Given the description of an element on the screen output the (x, y) to click on. 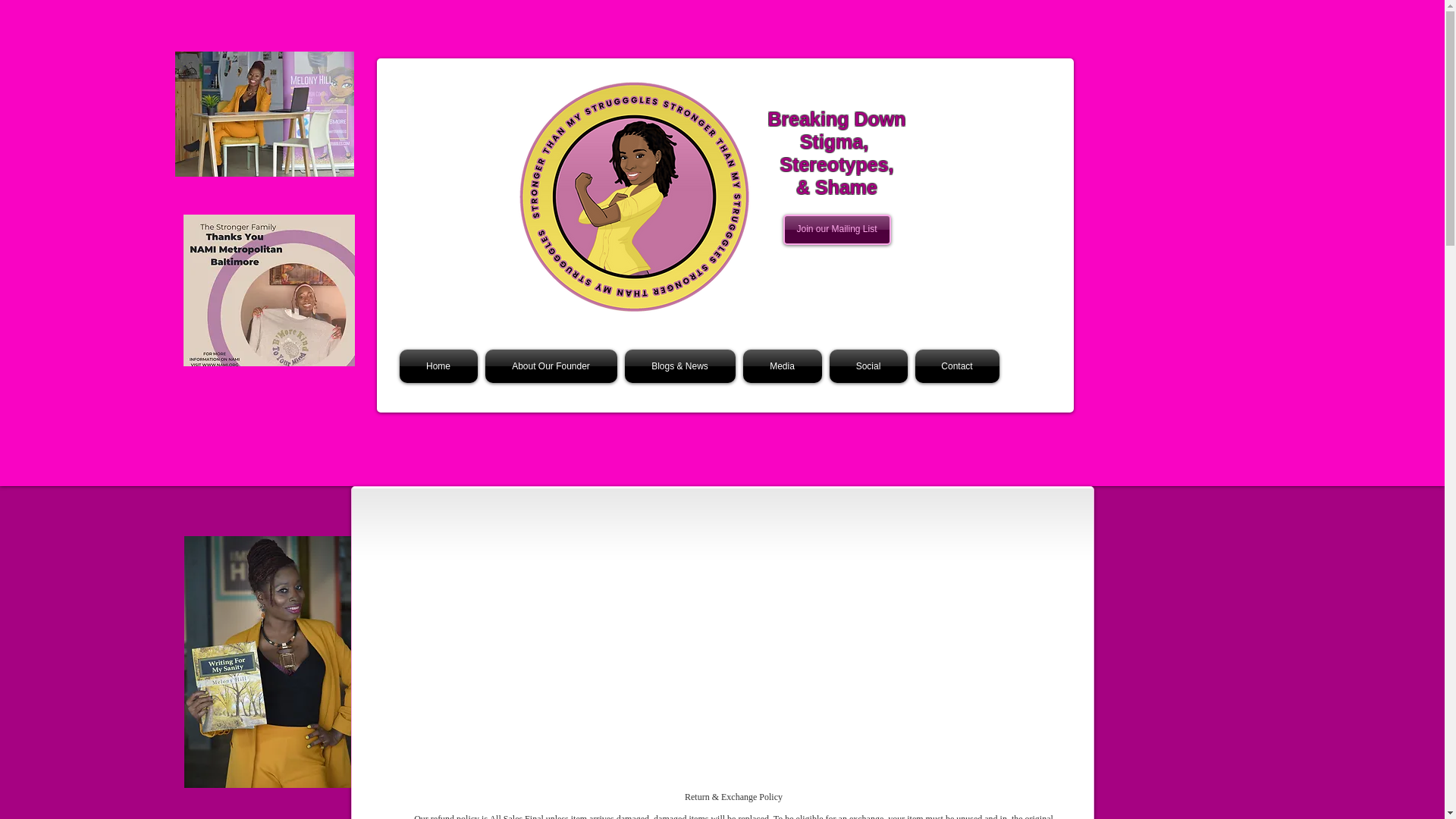
Social (868, 366)
About Our Founder (550, 366)
Media (781, 366)
Home (439, 366)
Join our Mailing List (836, 229)
Contact (954, 366)
